Given the description of an element on the screen output the (x, y) to click on. 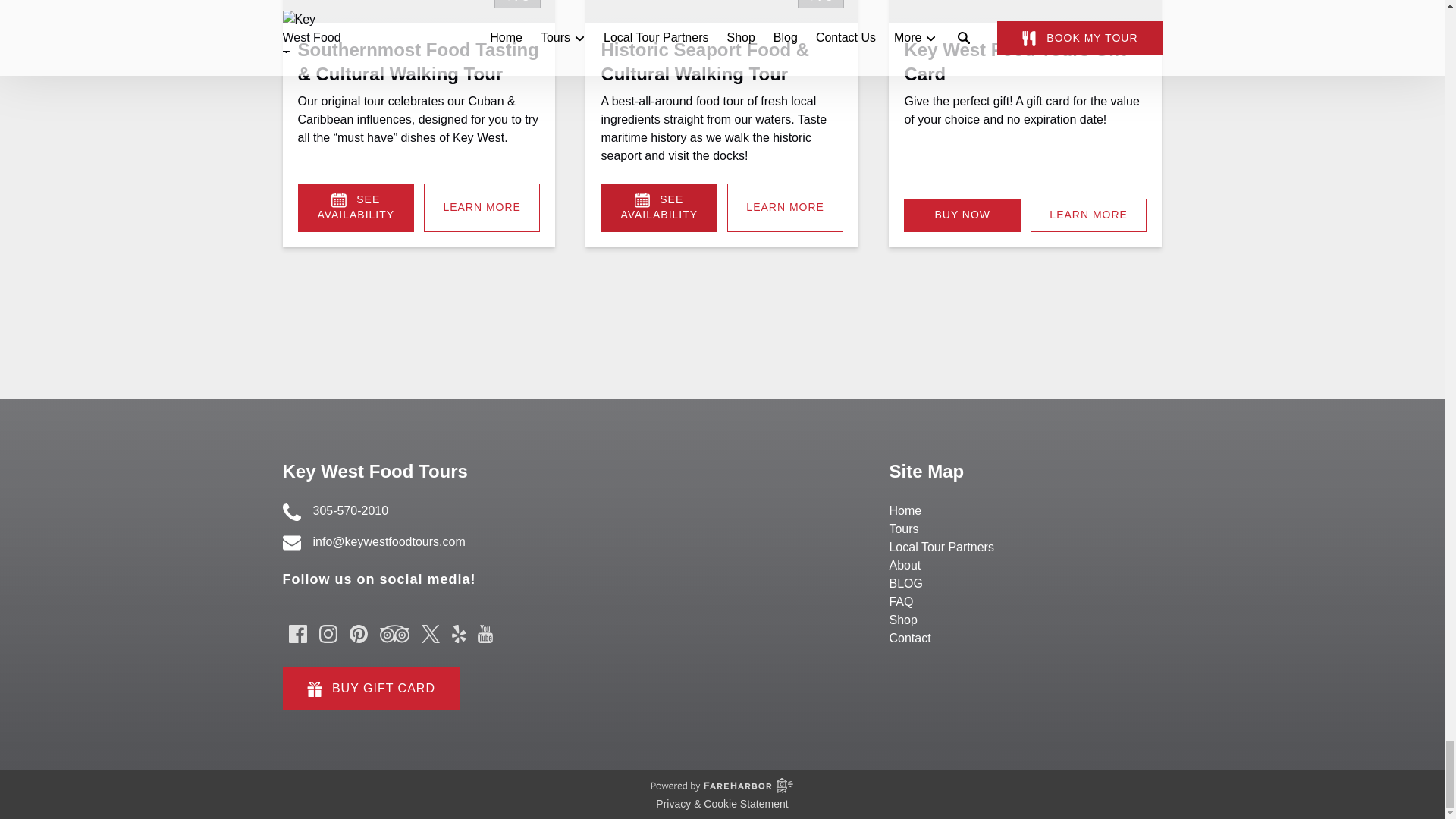
GIFT (313, 688)
Envelope (290, 542)
Phone (290, 511)
